Given the description of an element on the screen output the (x, y) to click on. 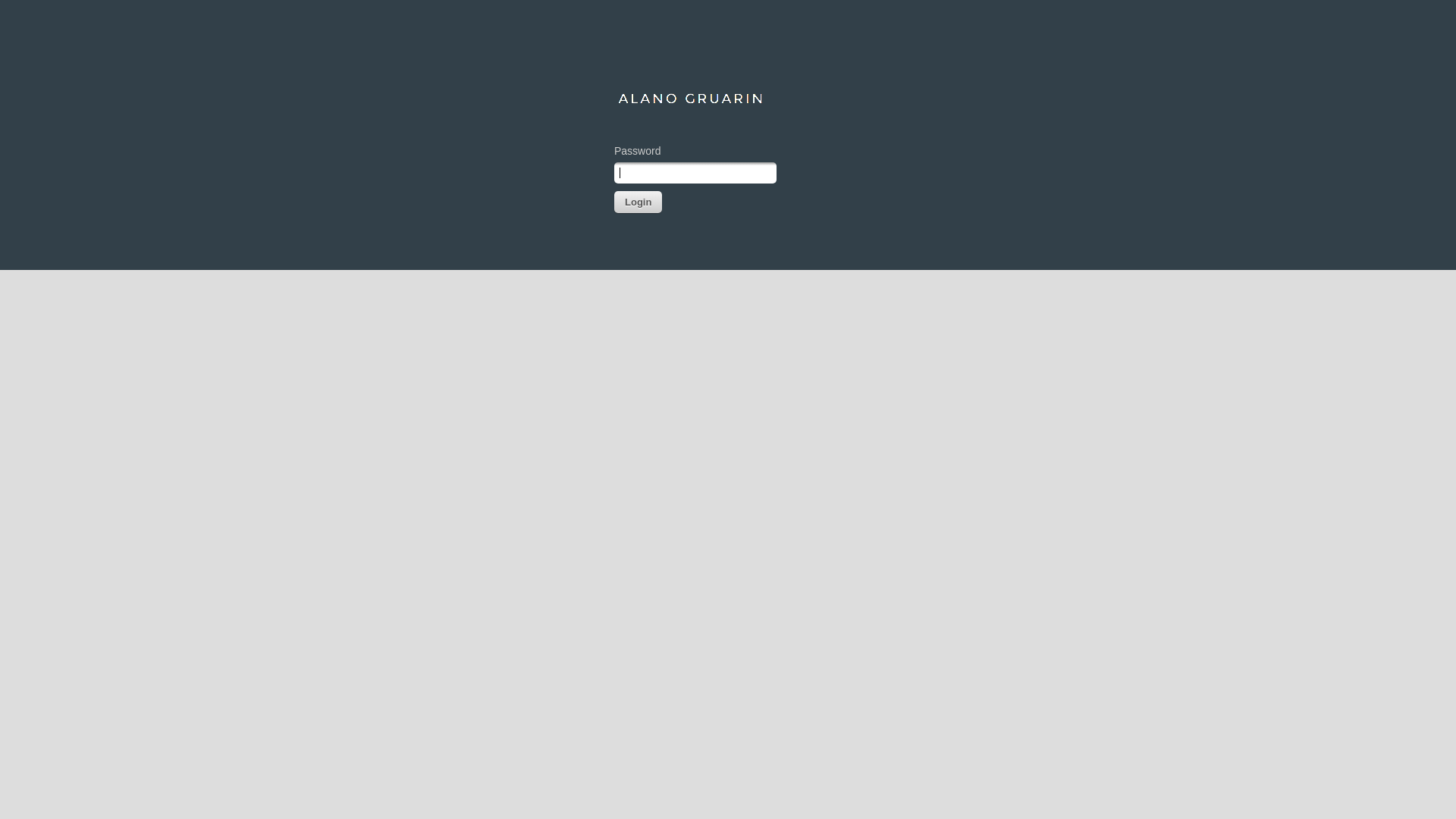
Login Element type: text (638, 202)
